Given the description of an element on the screen output the (x, y) to click on. 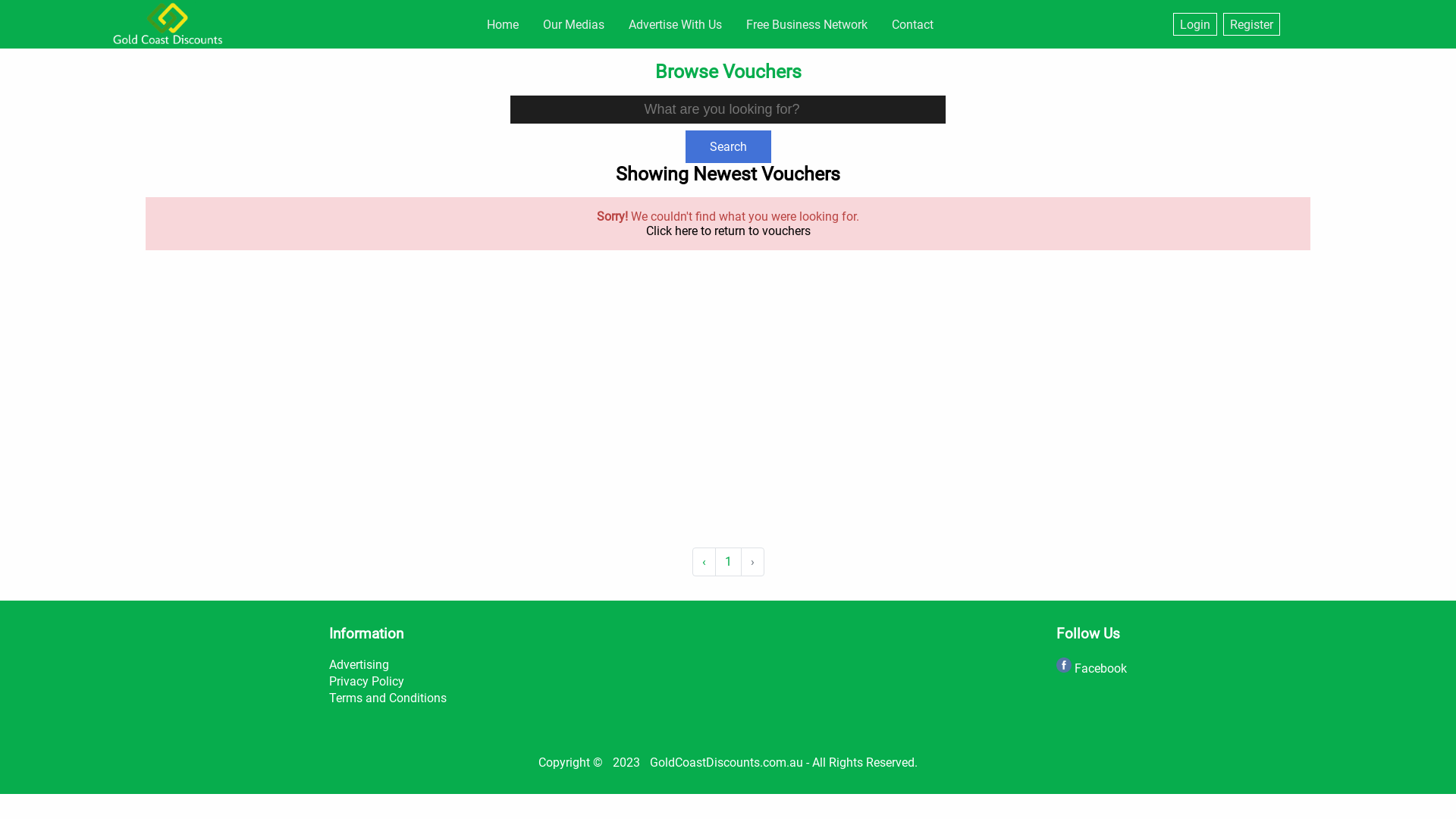
Search Element type: text (728, 146)
Advertising Element type: text (359, 664)
Click here to return to vouchers Element type: text (728, 230)
Our Medias Element type: text (573, 23)
Advertise With Us Element type: text (675, 23)
Terms and Conditions Element type: text (387, 697)
Login Element type: text (1195, 24)
Facebook Element type: text (1091, 668)
Privacy Policy Element type: text (366, 681)
Home Element type: text (502, 23)
1 Element type: text (727, 561)
Register Element type: text (1251, 24)
Free Business Network Element type: text (806, 23)
Contact Element type: text (912, 23)
